Given the description of an element on the screen output the (x, y) to click on. 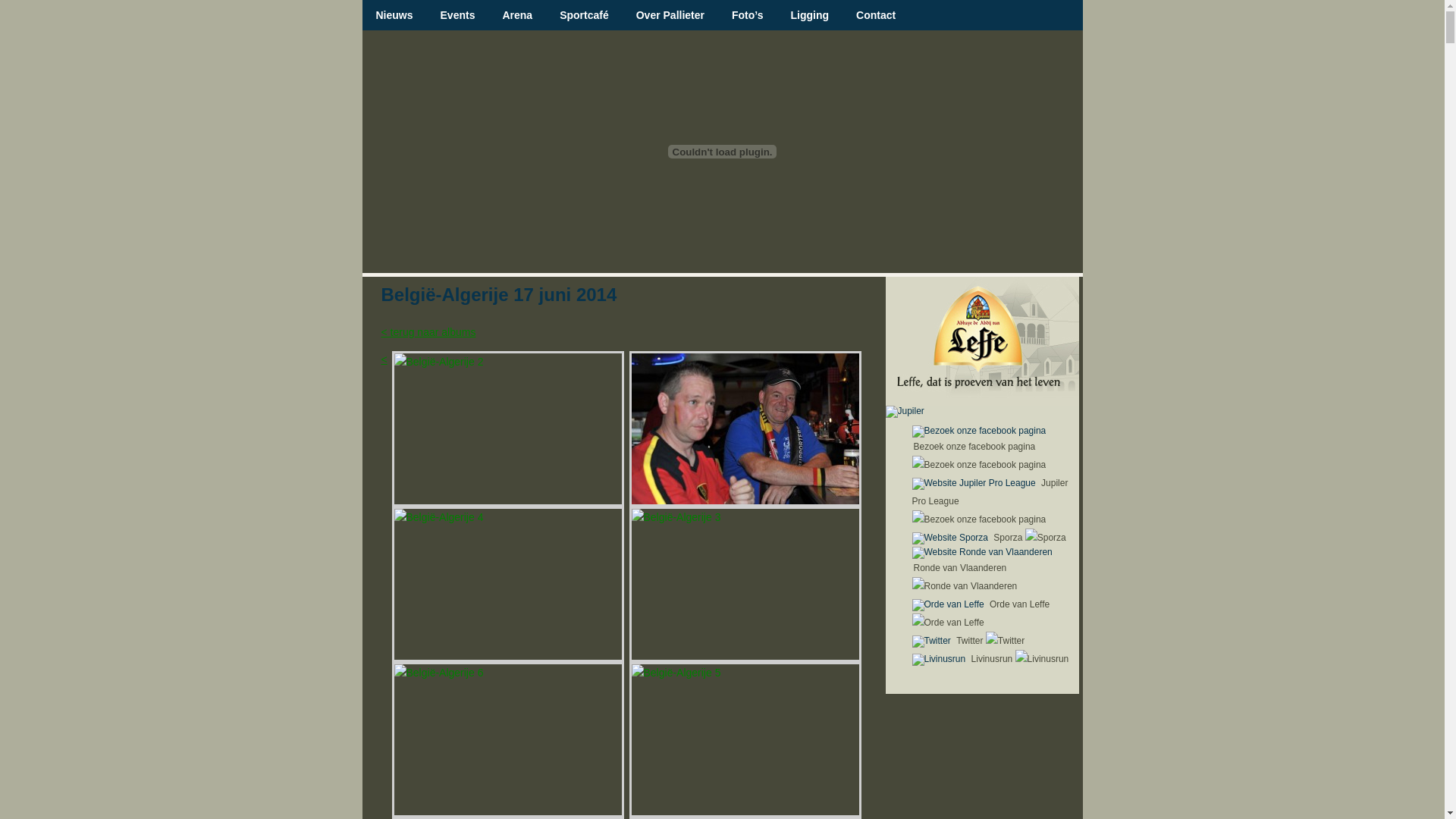
Sporza Element type: text (1028, 537)
Ronde van Vlaanderen Element type: text (964, 576)
Nieuws Element type: text (394, 15)
Arena Element type: text (517, 15)
< terug naar albums Element type: text (427, 332)
Bezoek onze facebook pagina Element type: text (979, 455)
Orde van Leffe Element type: text (980, 613)
Twitter Element type: text (990, 640)
Events Element type: text (457, 15)
Over Pallieter Element type: text (670, 15)
Contact Element type: text (875, 15)
Jupiler Pro League Element type: text (989, 500)
Ligging Element type: text (809, 15)
Livinusrun Element type: text (1019, 658)
